Given the description of an element on the screen output the (x, y) to click on. 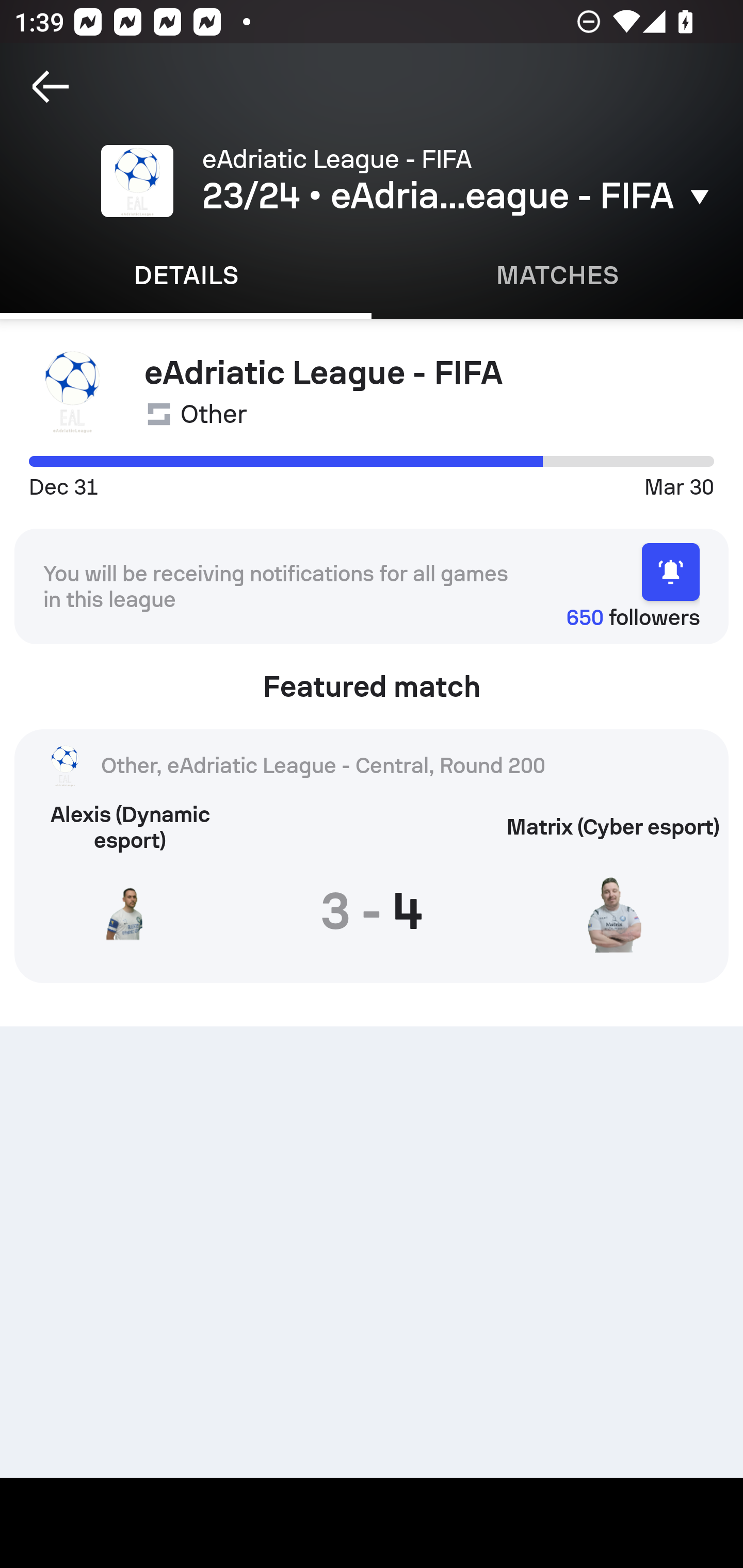
Navigate up (50, 86)
23/24 • eAdriatic League - FIFA (458, 195)
Matches MATCHES (557, 275)
